Given the description of an element on the screen output the (x, y) to click on. 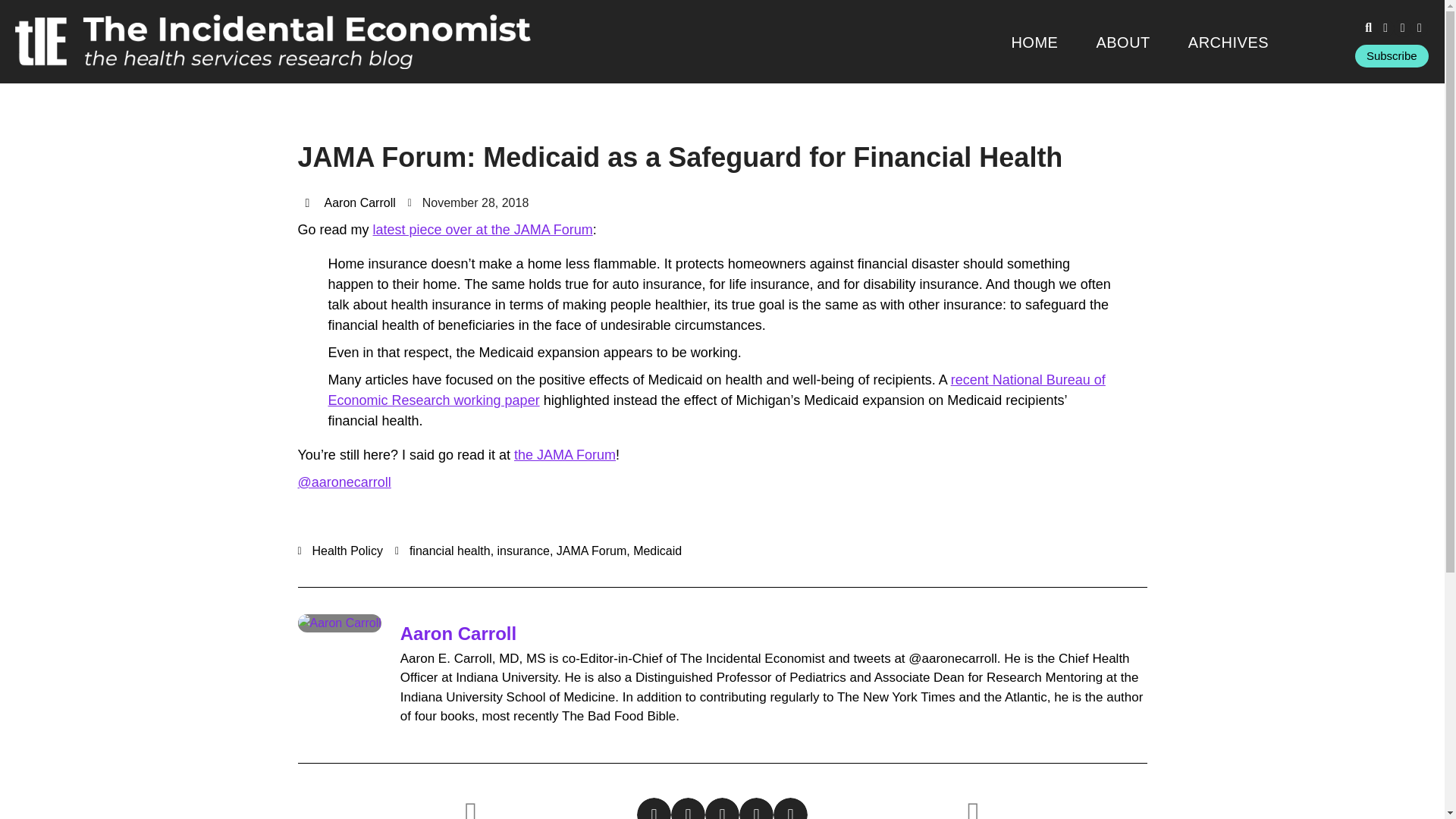
Subscribe (1391, 56)
financial health (449, 550)
HOME (1034, 41)
Aaron Carroll (349, 203)
November 28, 2018 (468, 203)
ABOUT (1122, 41)
latest piece over at the JAMA Forum (482, 229)
the JAMA Forum (564, 454)
ARCHIVES (1228, 41)
insurance (523, 550)
